Given the description of an element on the screen output the (x, y) to click on. 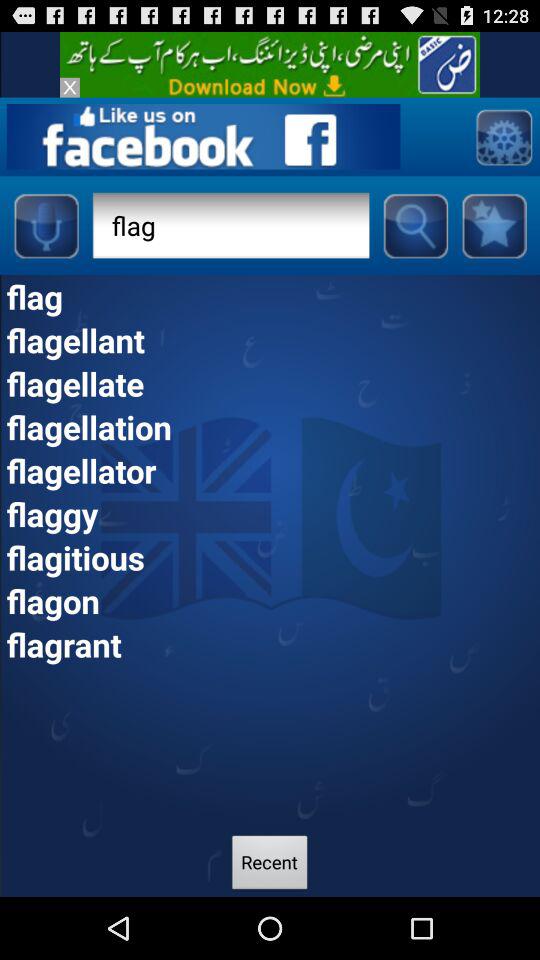
performs a search (415, 225)
